Given the description of an element on the screen output the (x, y) to click on. 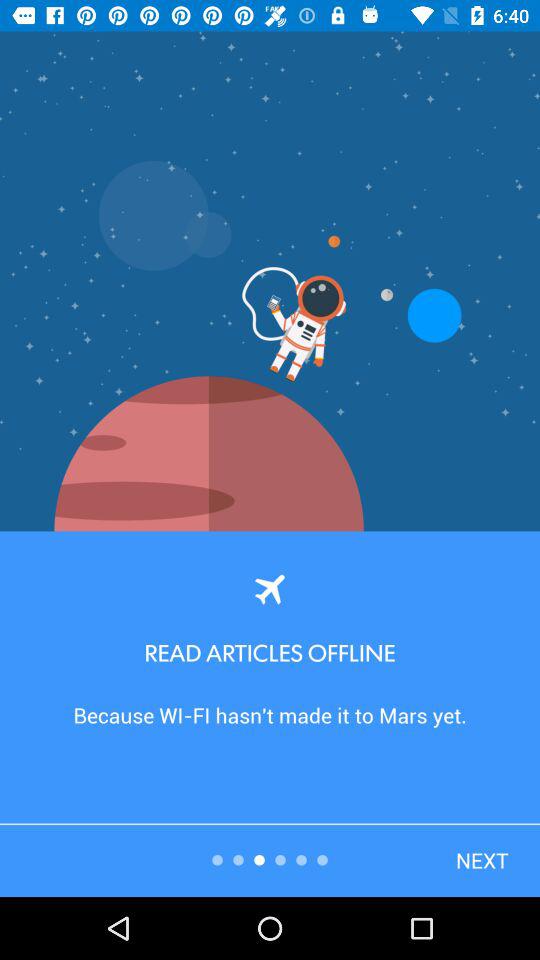
click on the button at bottom right corner of the page (487, 859)
click on the flight icon at the center of the page (269, 588)
